Given the description of an element on the screen output the (x, y) to click on. 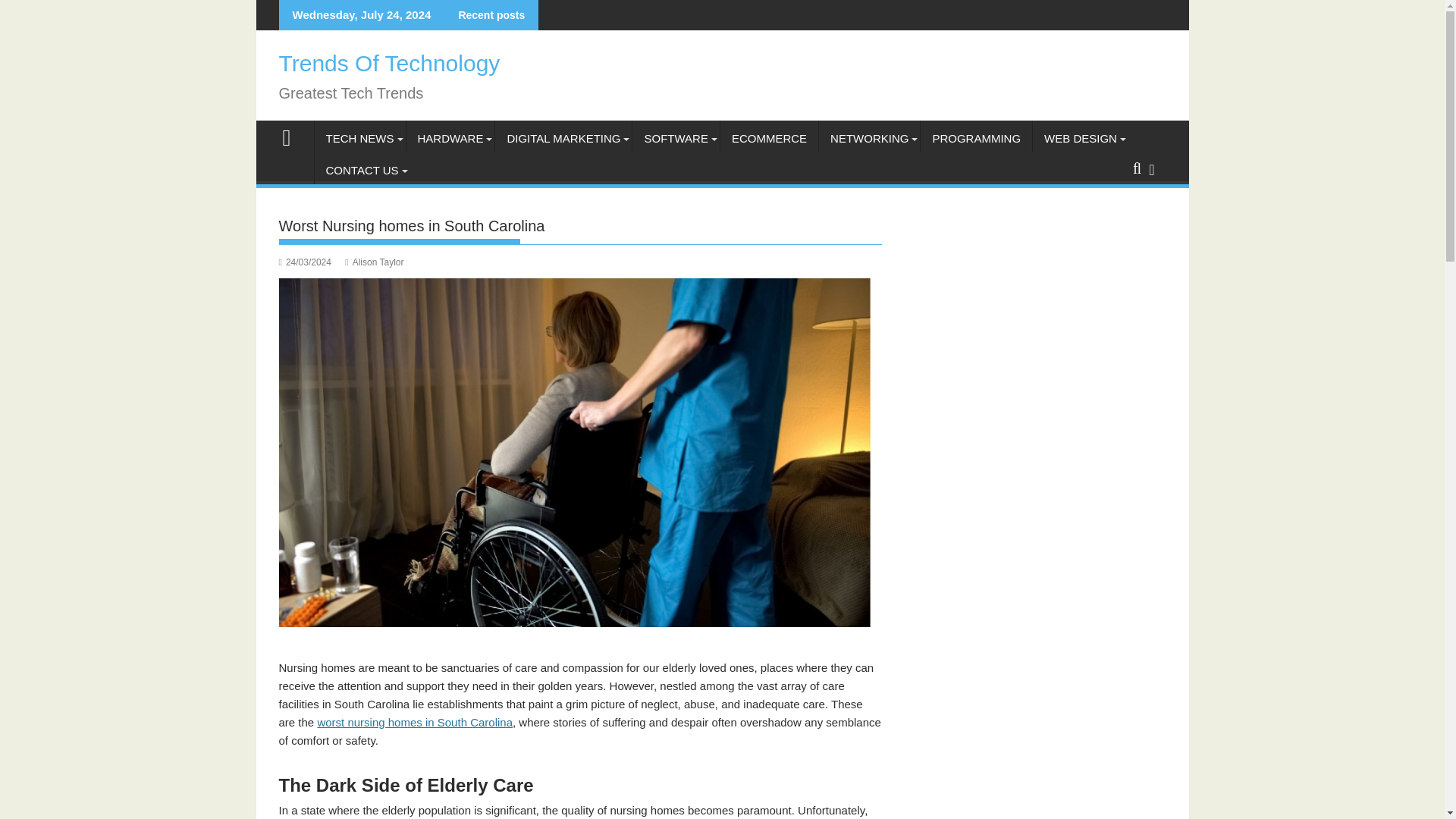
HARDWARE (450, 138)
TECH NEWS (359, 138)
CONTACT US (361, 170)
NETWORKING (869, 138)
Trends Of Technology (389, 63)
PROGRAMMING (976, 138)
Trends Of Technology (293, 136)
DIGITAL MARKETING (563, 138)
SOFTWARE (675, 138)
WEB DESIGN (1080, 138)
